Given the description of an element on the screen output the (x, y) to click on. 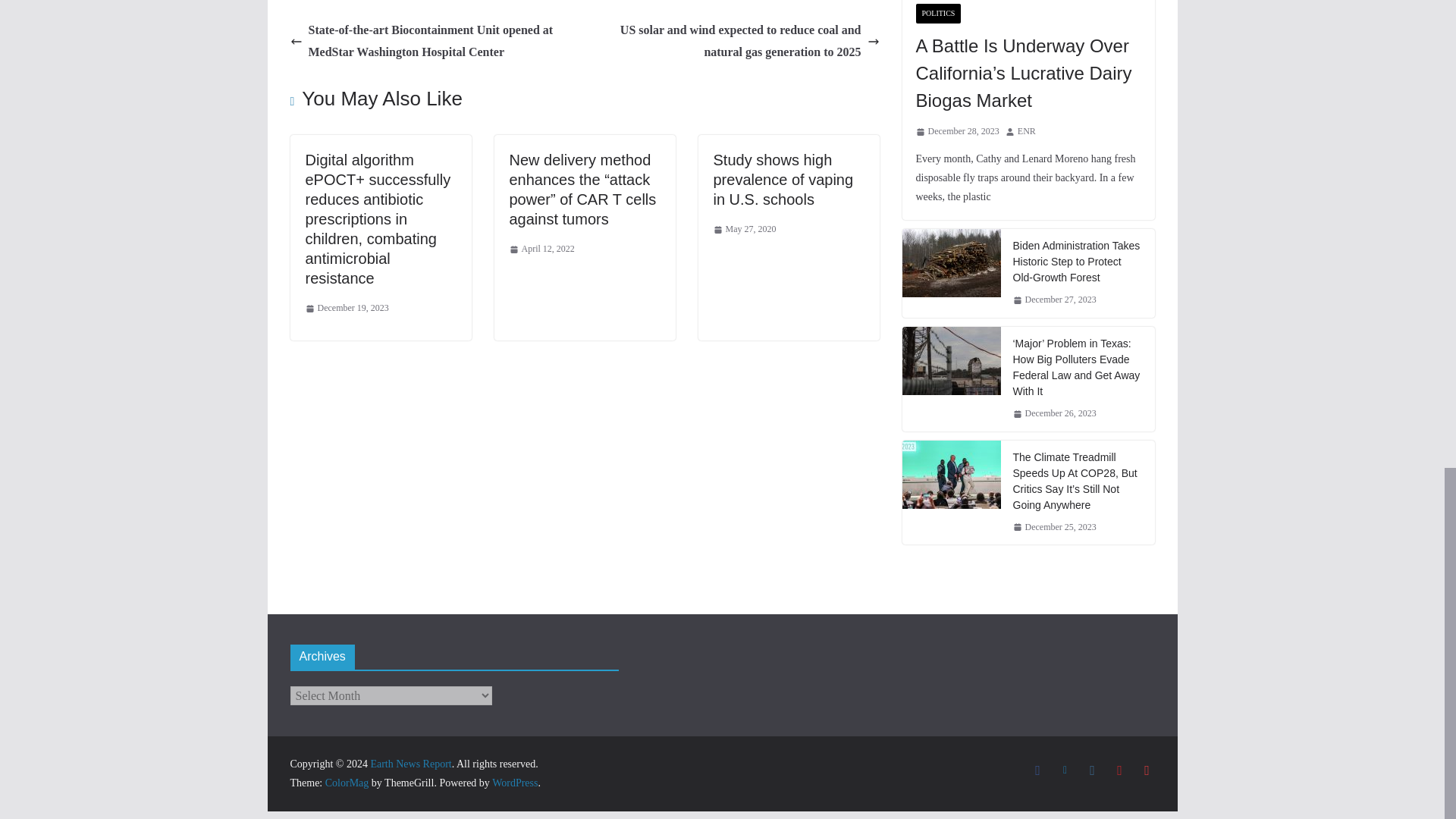
Study shows high prevalence of vaping in U.S. schools (783, 179)
Study shows high prevalence of vaping in U.S. schools (783, 179)
April 12, 2022 (542, 248)
December 19, 2023 (346, 308)
9:02 pm (346, 308)
May 27, 2020 (744, 229)
8:53 pm (542, 248)
